Given the description of an element on the screen output the (x, y) to click on. 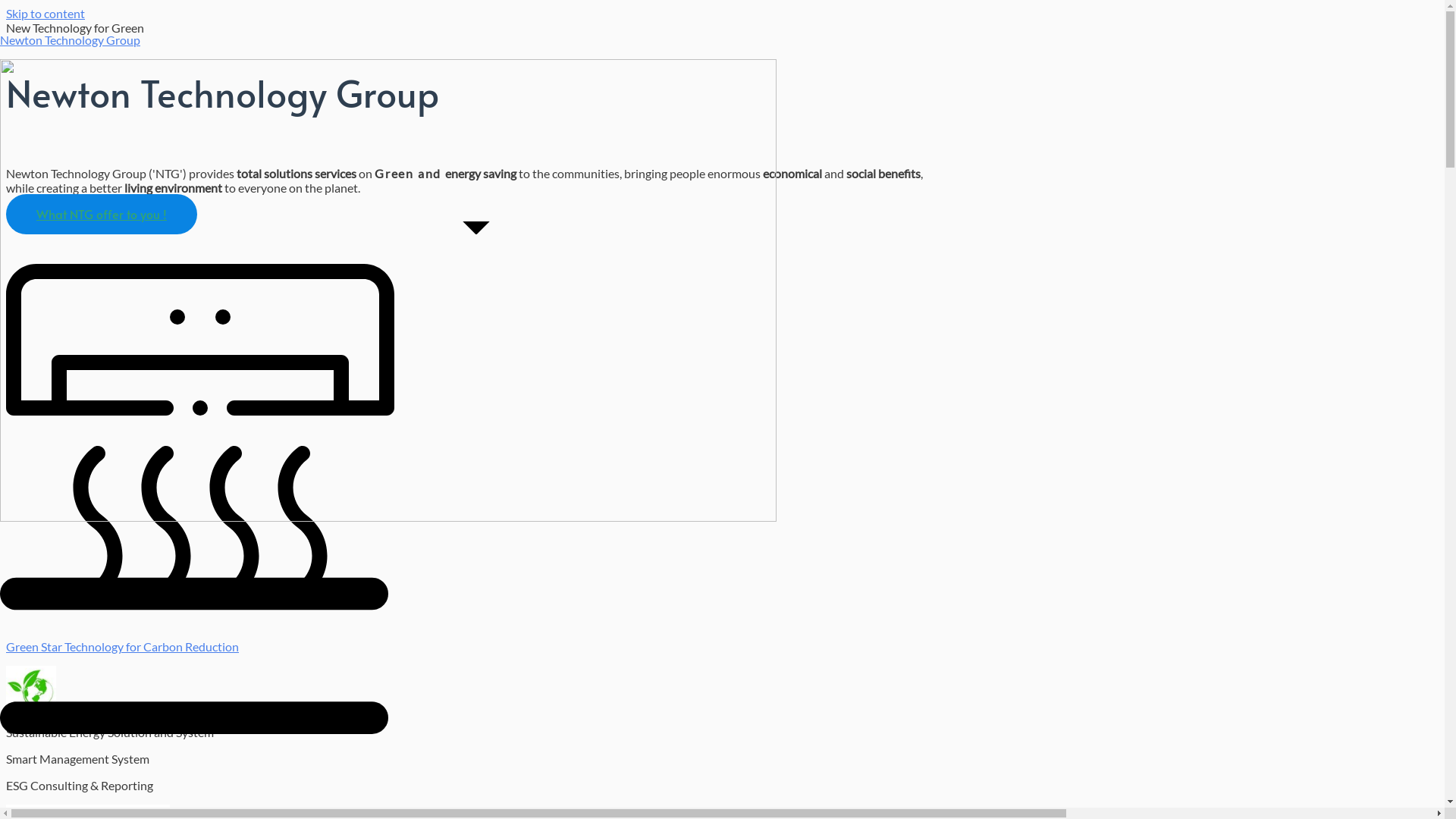
What NTG offer to you ! Element type: text (101, 214)
Skip to content Element type: text (45, 13)
Green Star Technology for Carbon Reduction Element type: text (122, 646)
Newton Technology Group Element type: text (70, 39)
